Given the description of an element on the screen output the (x, y) to click on. 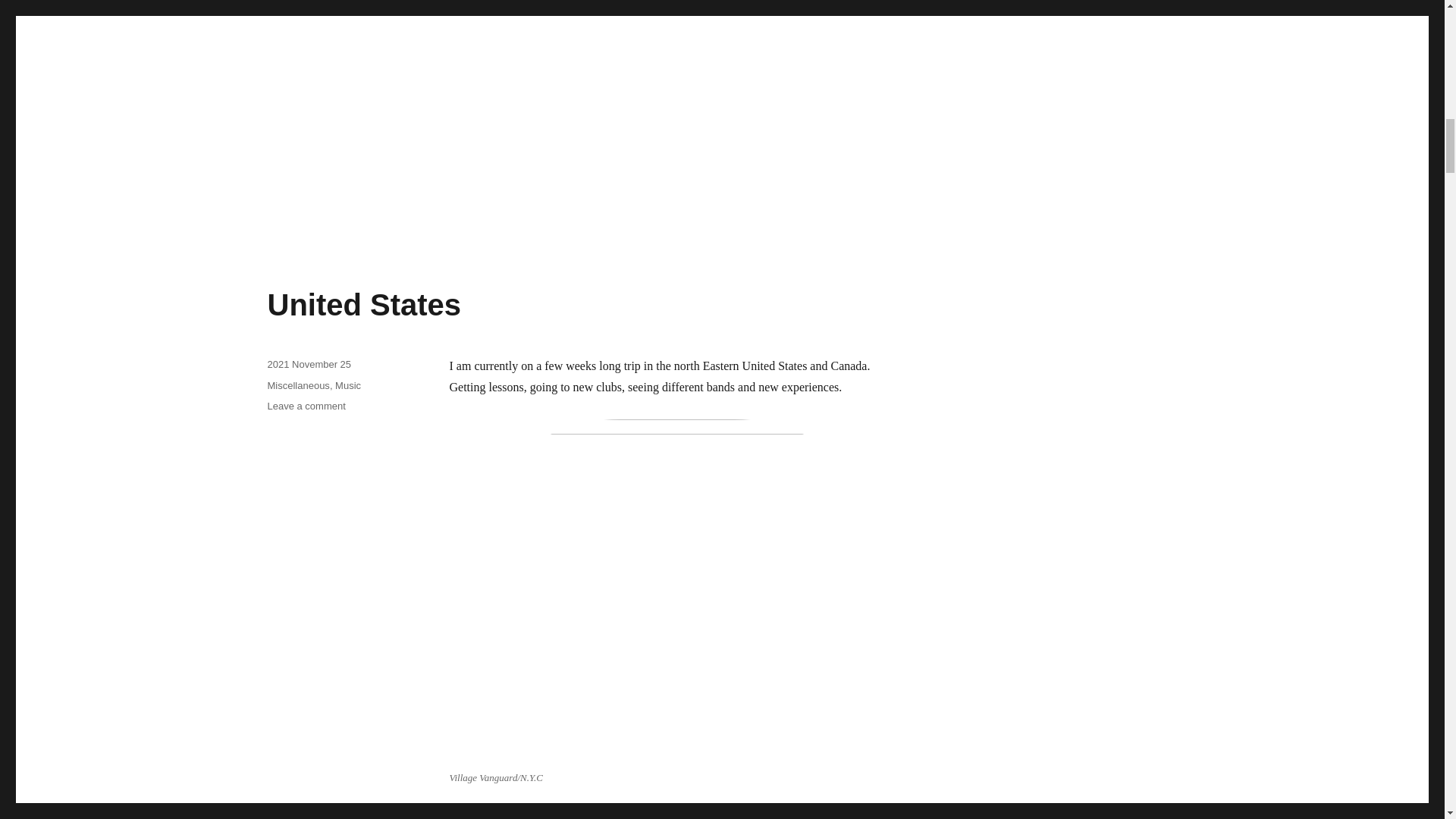
2021 November 25 (308, 364)
Miscellaneous (305, 405)
YouTube video player (297, 384)
United States (660, 100)
Music (363, 304)
